Given the description of an element on the screen output the (x, y) to click on. 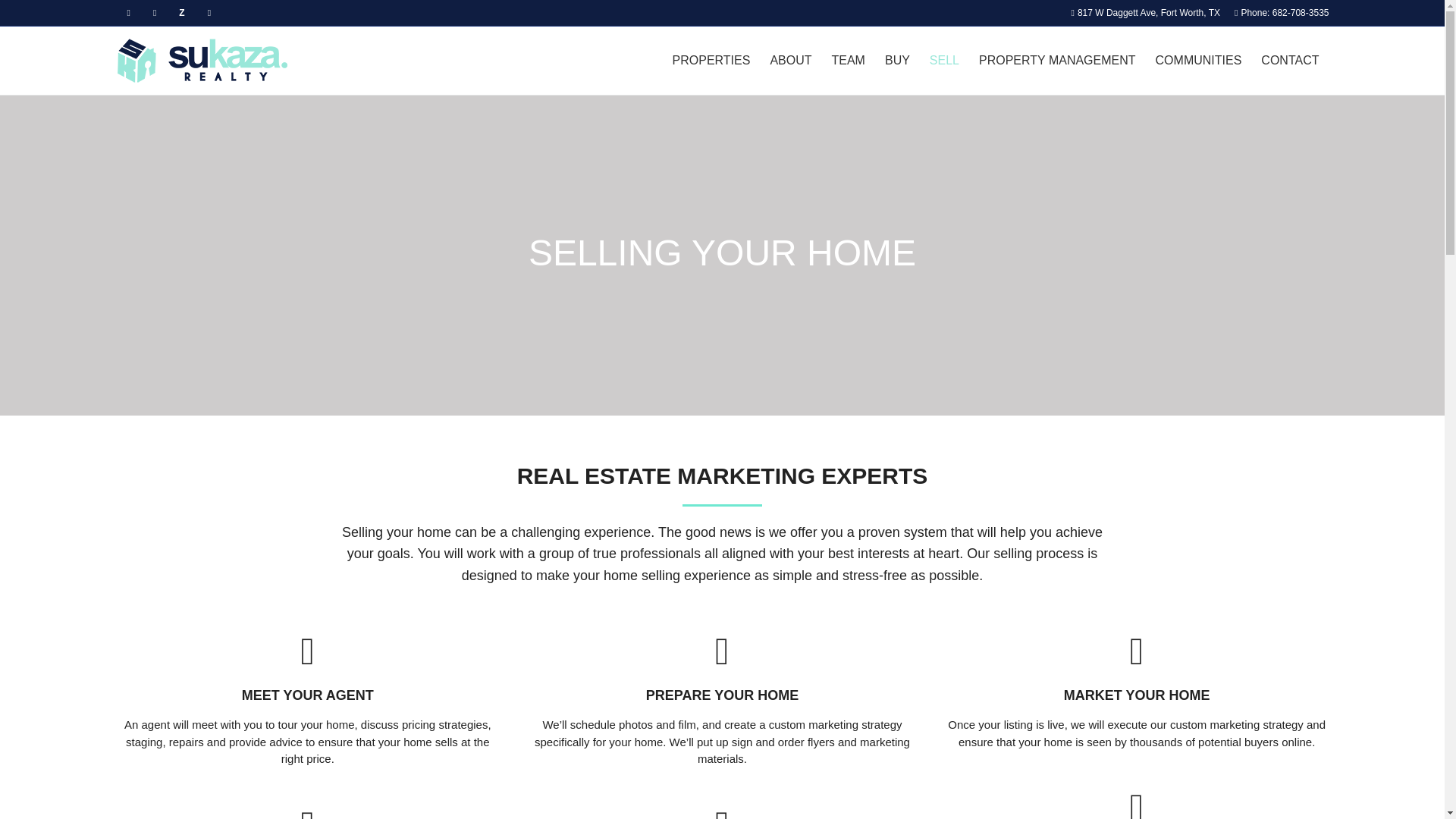
ABOUT (790, 60)
PROPERTY MANAGEMENT (1057, 60)
PROPERTIES (711, 60)
Z (181, 12)
Phone: 682-708-3535 (1280, 12)
SELL (944, 60)
TEAM (848, 60)
COMMUNITIES (1198, 60)
CONTACT (1288, 60)
BUY (897, 60)
